Given the description of an element on the screen output the (x, y) to click on. 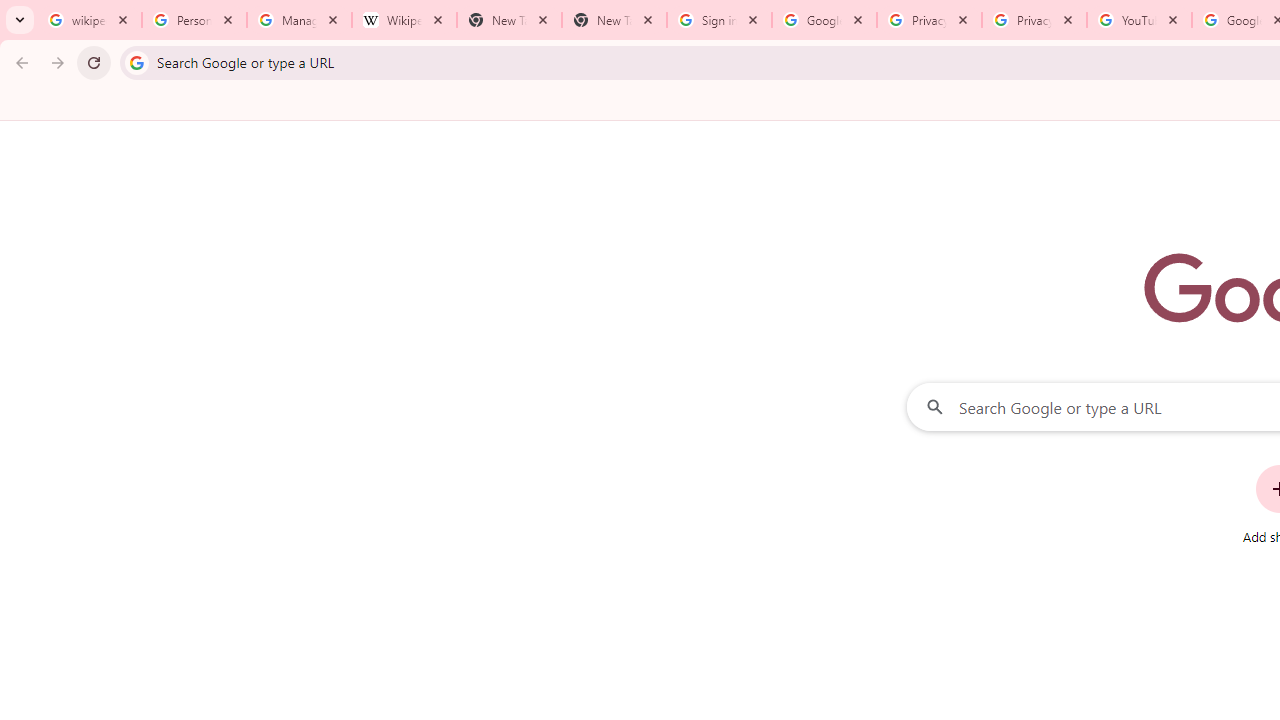
Google Drive: Sign-in (823, 20)
